Given the description of an element on the screen output the (x, y) to click on. 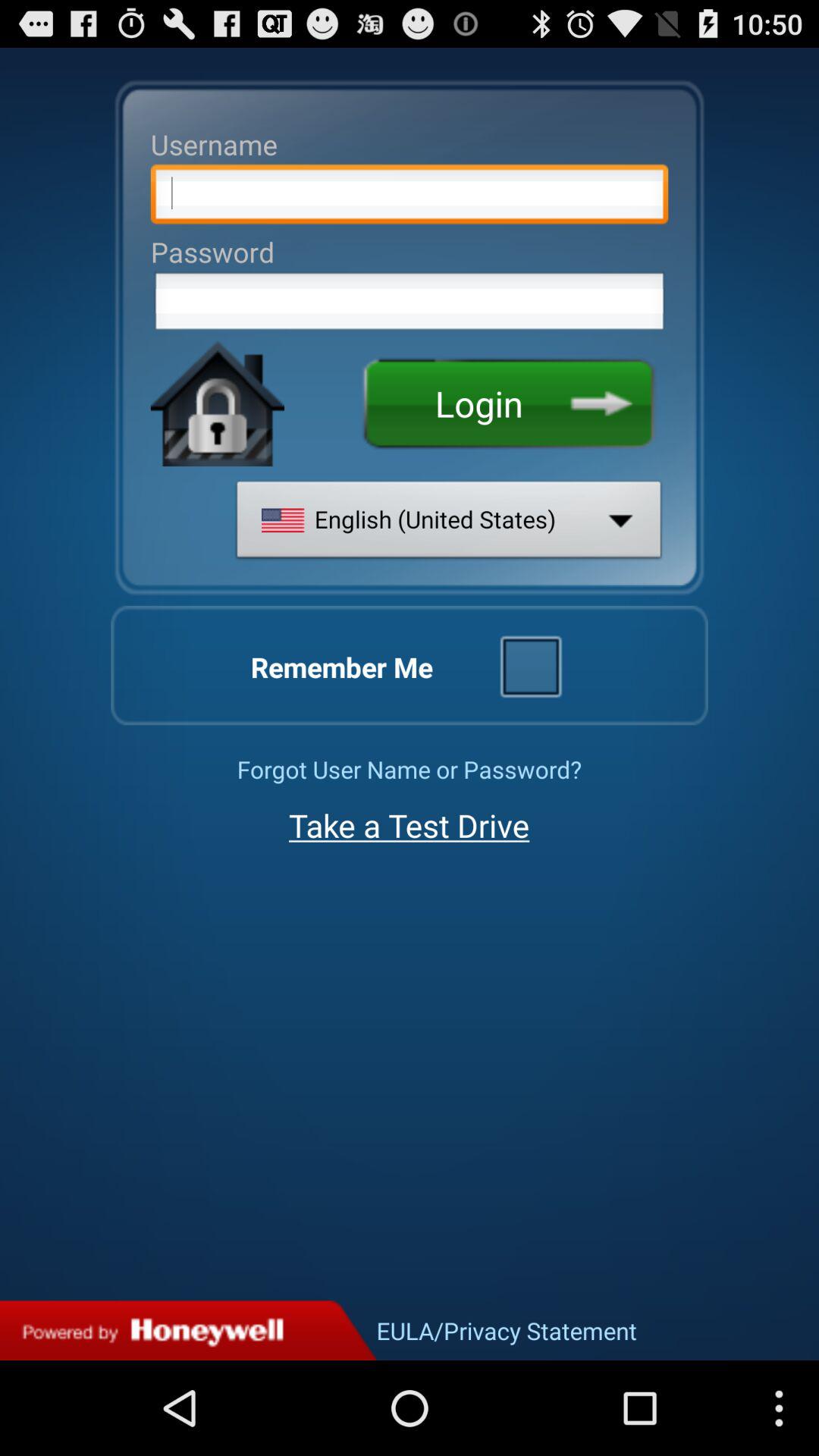
remember me button (530, 665)
